Given the description of an element on the screen output the (x, y) to click on. 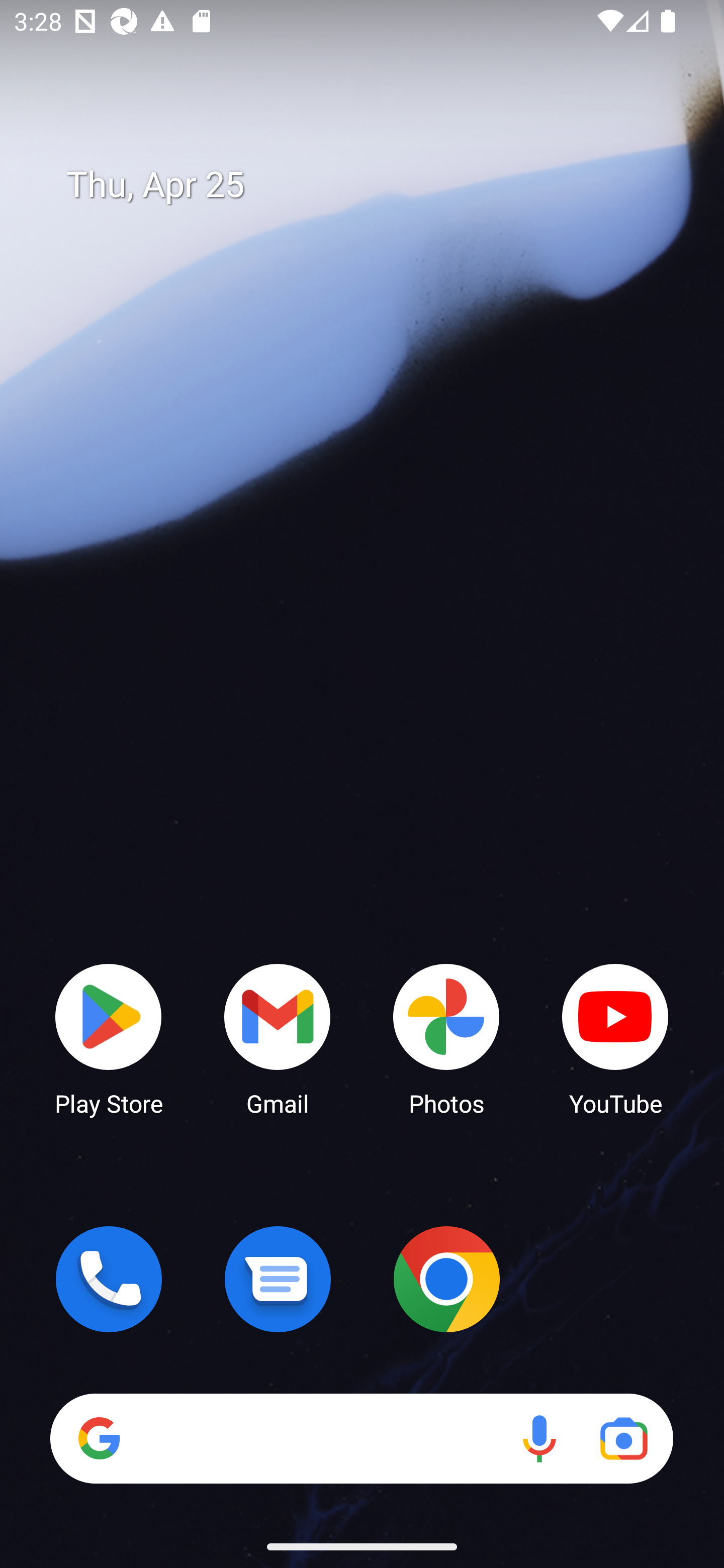
Thu, Apr 25 (375, 184)
Play Store (108, 1038)
Gmail (277, 1038)
Photos (445, 1038)
YouTube (615, 1038)
Phone (108, 1279)
Messages (277, 1279)
Chrome (446, 1279)
Search Voice search Google Lens (361, 1438)
Voice search (539, 1438)
Google Lens (623, 1438)
